Given the description of an element on the screen output the (x, y) to click on. 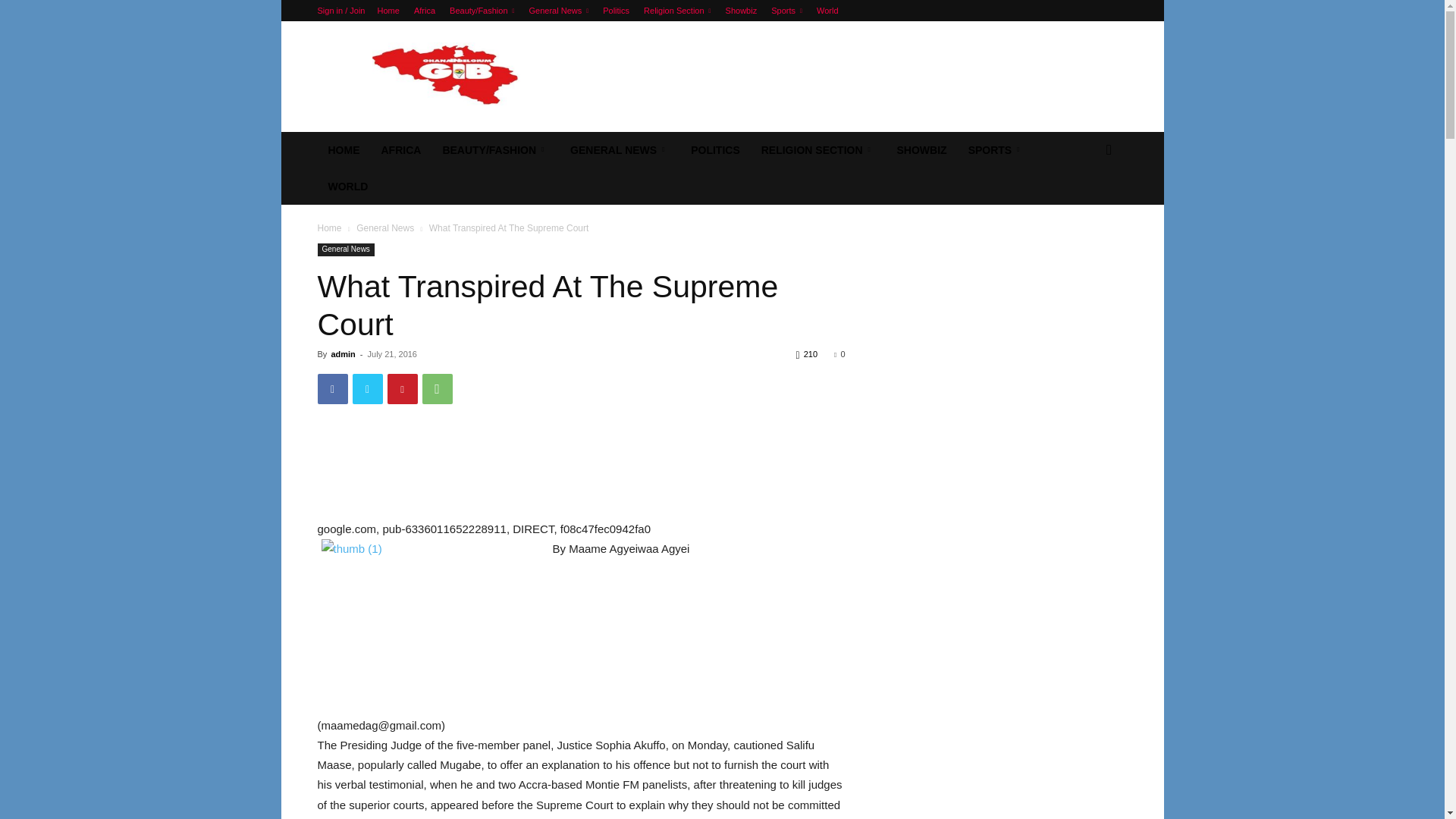
Africa (424, 10)
General News (559, 10)
HOME (343, 149)
World (827, 10)
Home (387, 10)
Politics (615, 10)
Advertisement (850, 76)
Showbiz (741, 10)
Facebook (332, 388)
Twitter (366, 388)
WhatsApp (436, 388)
AFRICA (399, 149)
Pinterest (401, 388)
Sports (786, 10)
Religion Section (676, 10)
